Given the description of an element on the screen output the (x, y) to click on. 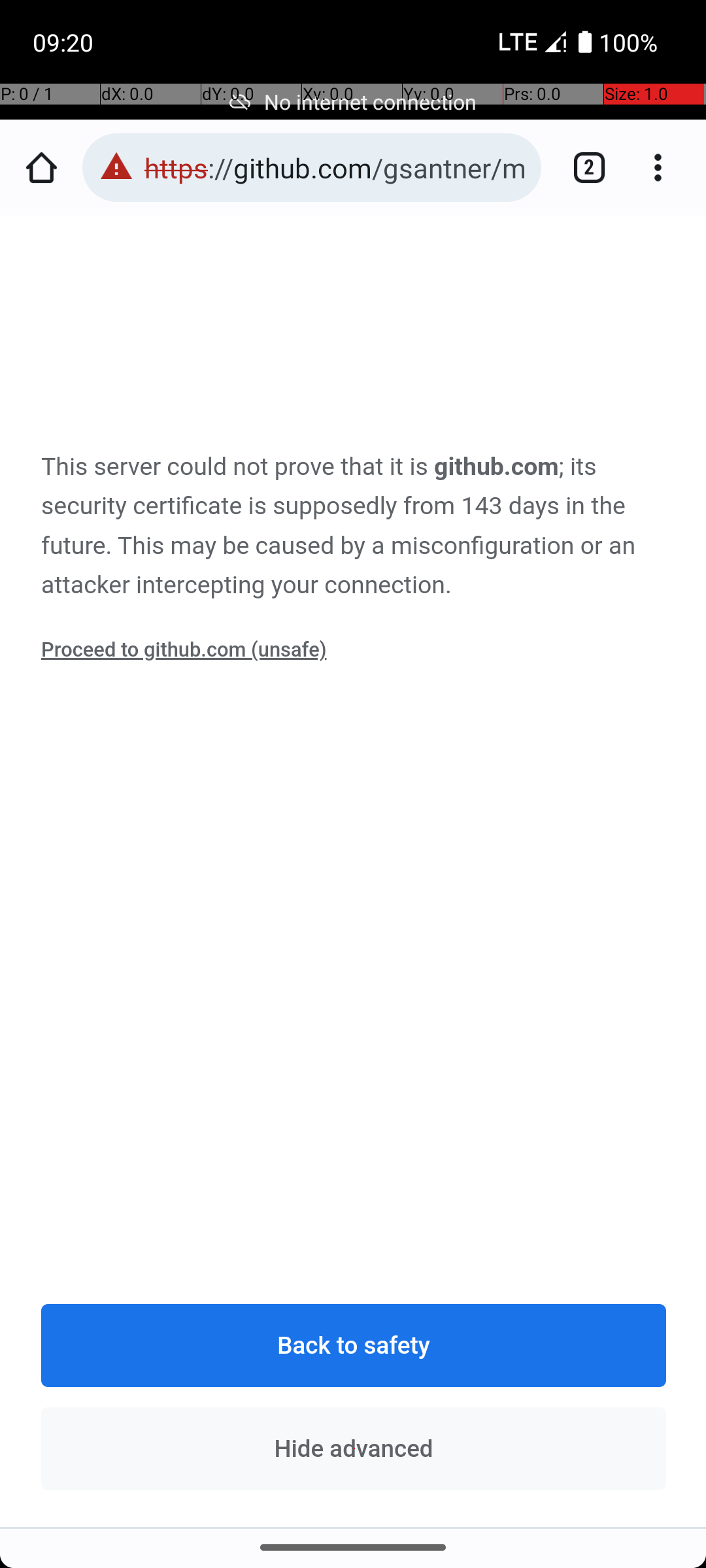
https://github.com/gsantner/markor/issues/new/choose Element type: android.widget.EditText (335, 167)
Hide advanced Element type: android.widget.Button (354, 1448)
This server could not prove that it is github.com; its security certificate is supposedly from 143 days in the future. This may be caused by a misconfiguration or an attacker intercepting your connection. Element type: android.widget.TextView (354, 526)
Proceed to github.com (unsafe) Element type: android.view.View (184, 650)
09:20 Element type: android.widget.TextView (64, 41)
